Given the description of an element on the screen output the (x, y) to click on. 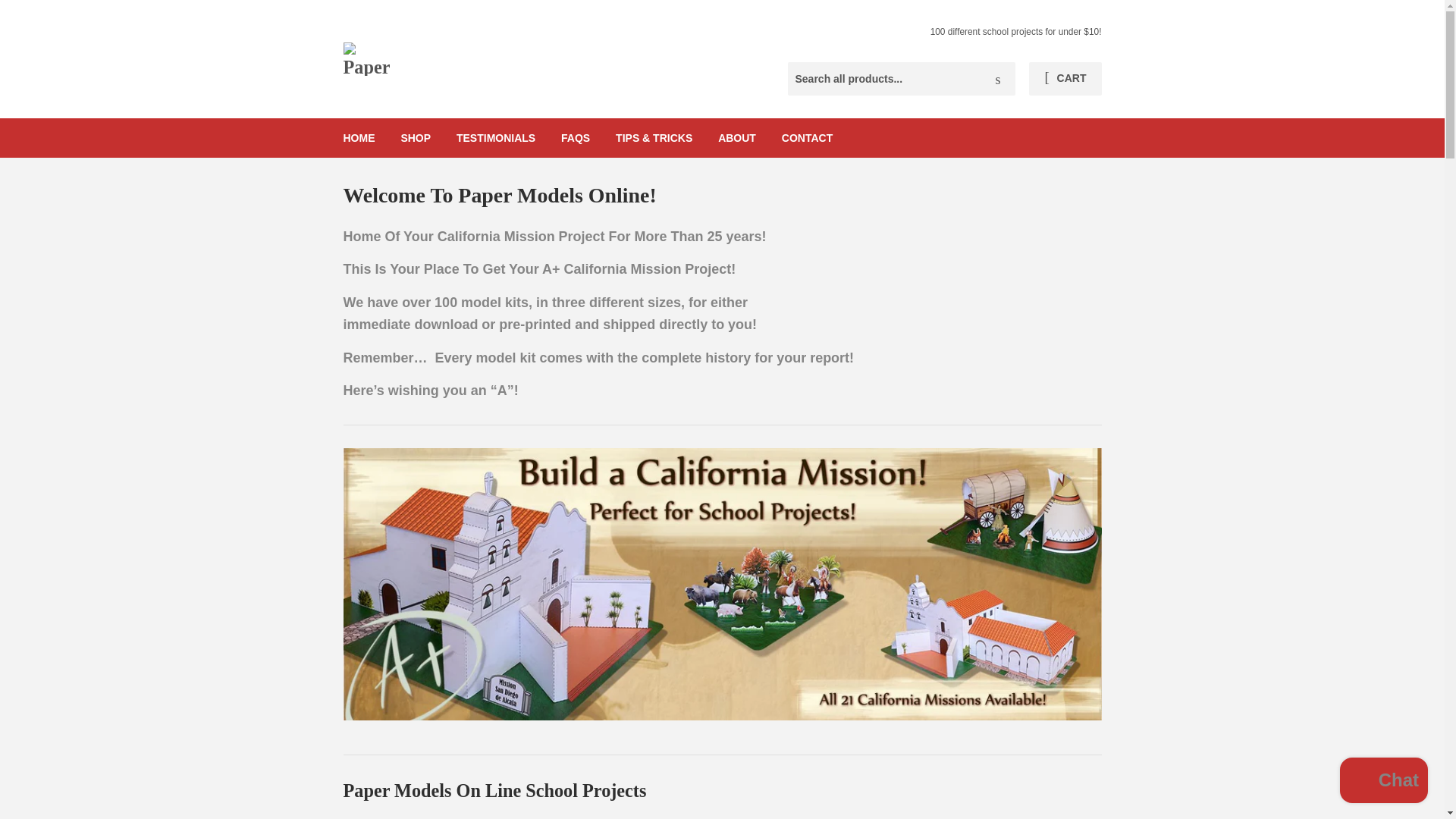
SHOP (415, 137)
TESTIMONIALS (496, 137)
Search (997, 79)
ABOUT (736, 137)
Shopify online store chat (1383, 781)
HOME (359, 137)
CONTACT (807, 137)
FAQS (575, 137)
CART (1064, 78)
